Given the description of an element on the screen output the (x, y) to click on. 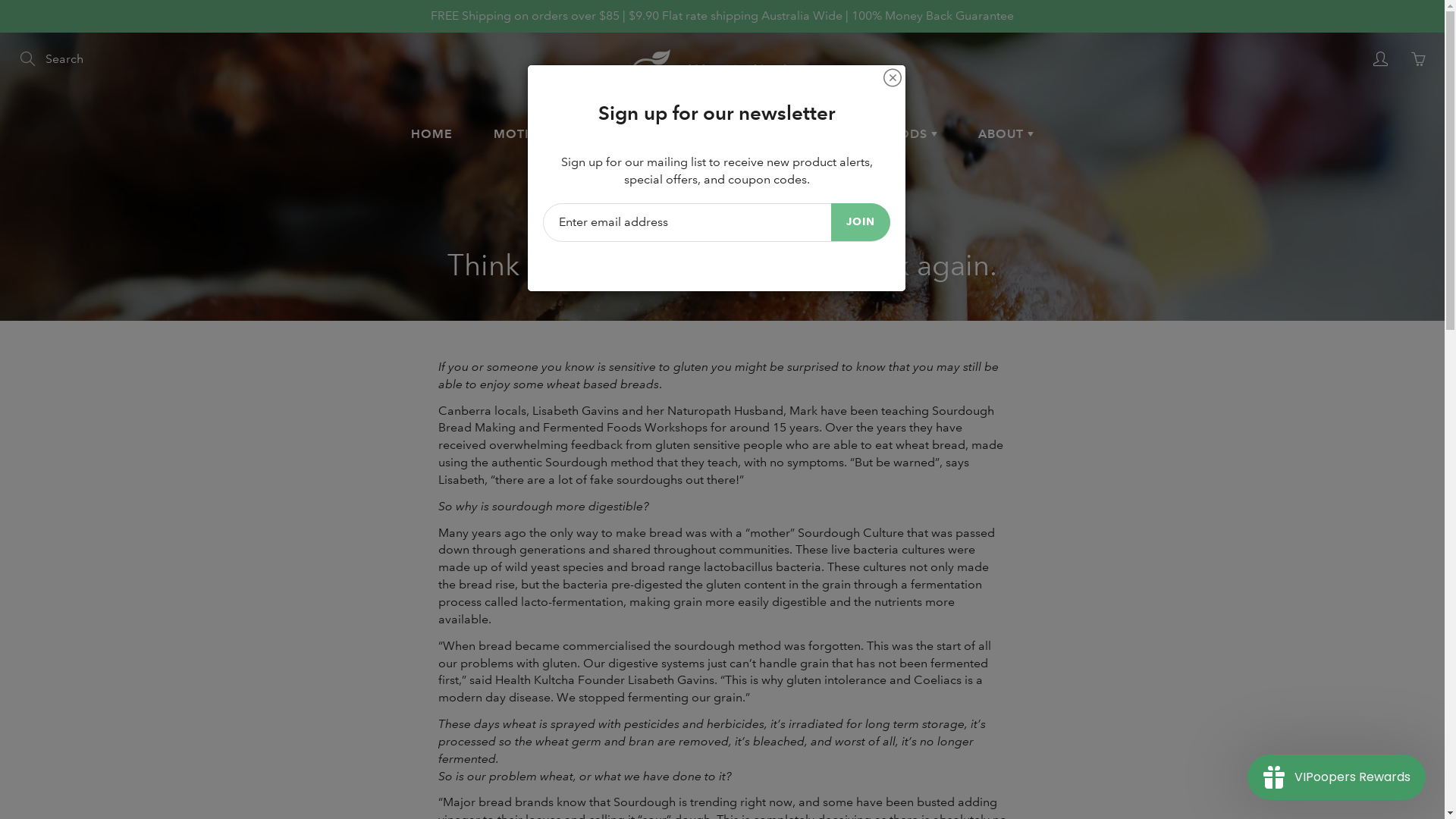
FERMENTED FOODS Element type: text (866, 134)
My account Element type: text (1379, 58)
ABOUT Element type: text (1005, 134)
Search Element type: text (28, 58)
SOURDOUGH Element type: text (706, 134)
MOTION POTION Element type: text (555, 134)
You have 0 items in your cart Element type: text (1417, 58)
HOME Element type: text (431, 134)
JOIN Element type: text (860, 222)
